Given the description of an element on the screen output the (x, y) to click on. 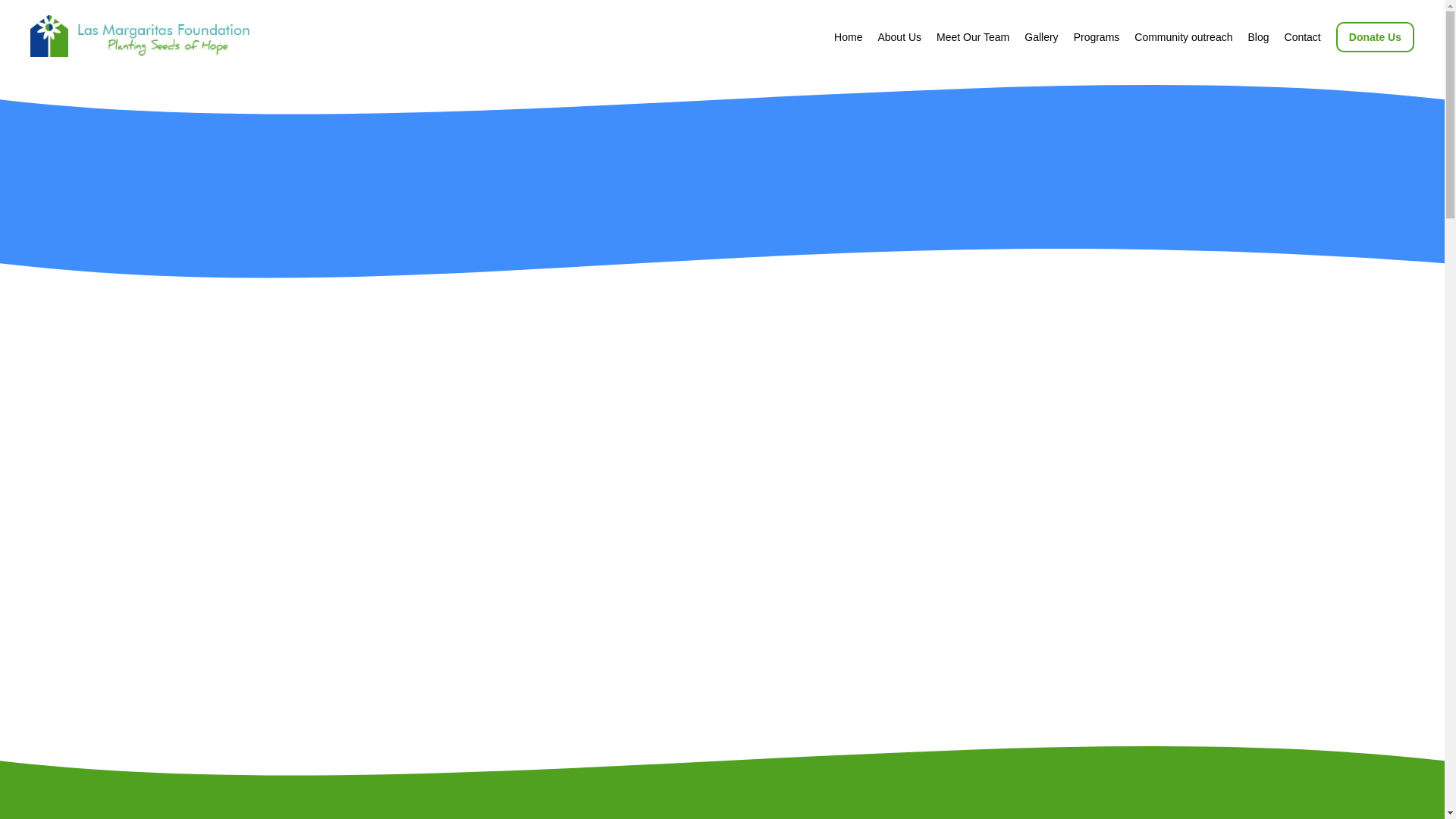
Gallery (1041, 37)
Donate Us (1374, 37)
Meet Our Team (972, 37)
Contact (1302, 37)
Home (847, 37)
Blog (1257, 37)
Community outreach (1182, 37)
Programs (1096, 37)
About Us (899, 37)
